Given the description of an element on the screen output the (x, y) to click on. 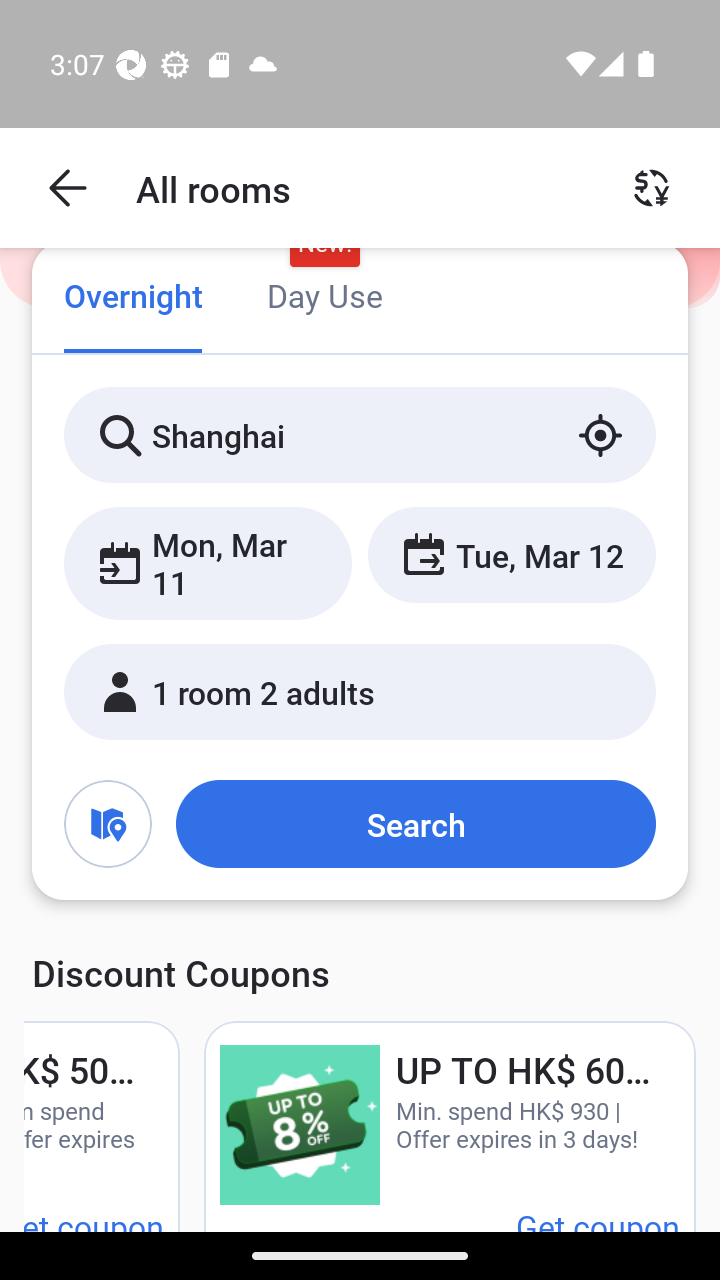
Day Use (324, 298)
Shanghai (359, 434)
Mon, Mar 11 (208, 562)
Tue, Mar 12 (511, 554)
1 room 2 adults (359, 691)
Search (415, 823)
